Given the description of an element on the screen output the (x, y) to click on. 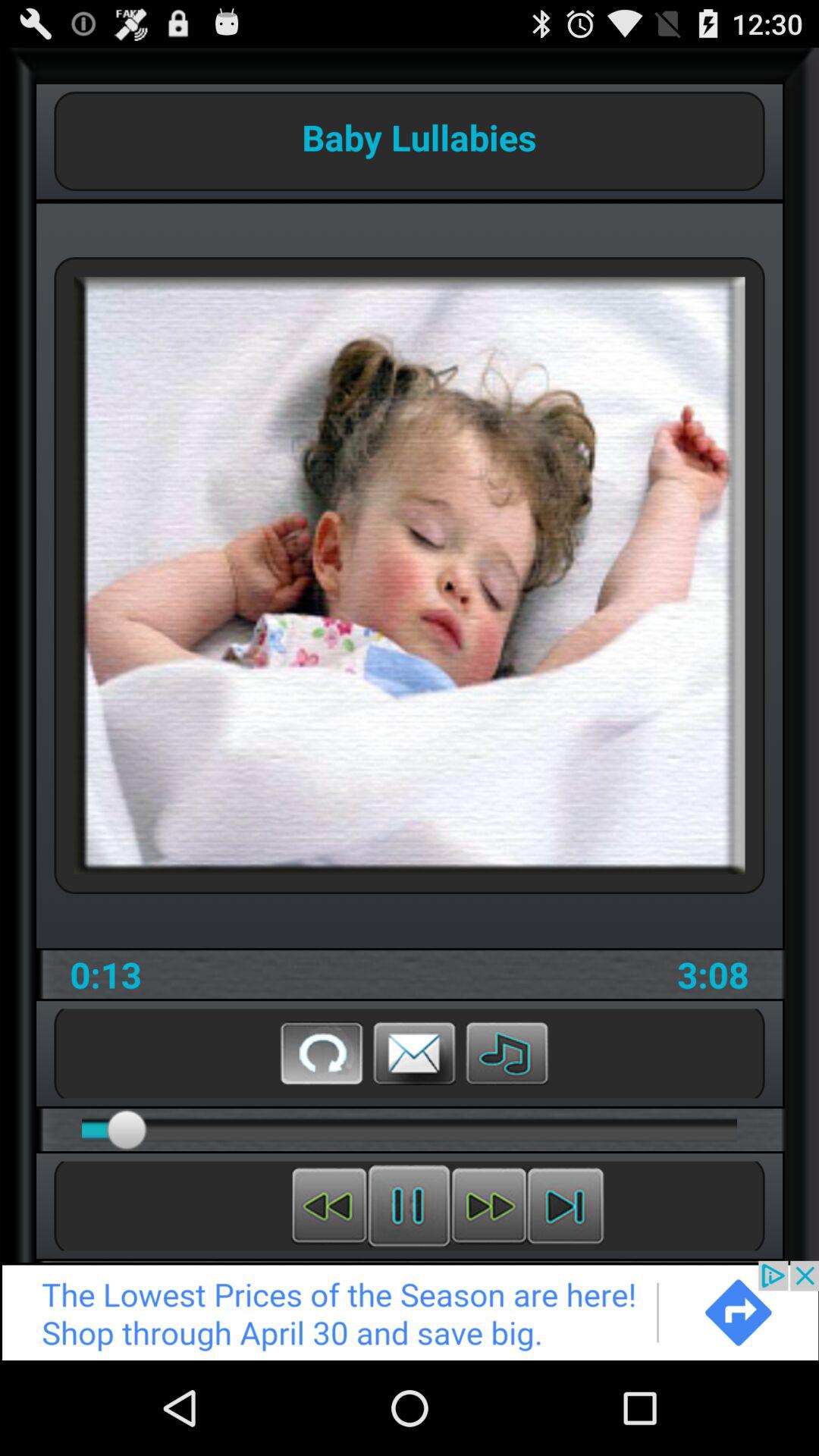
fast forward (488, 1205)
